Given the description of an element on the screen output the (x, y) to click on. 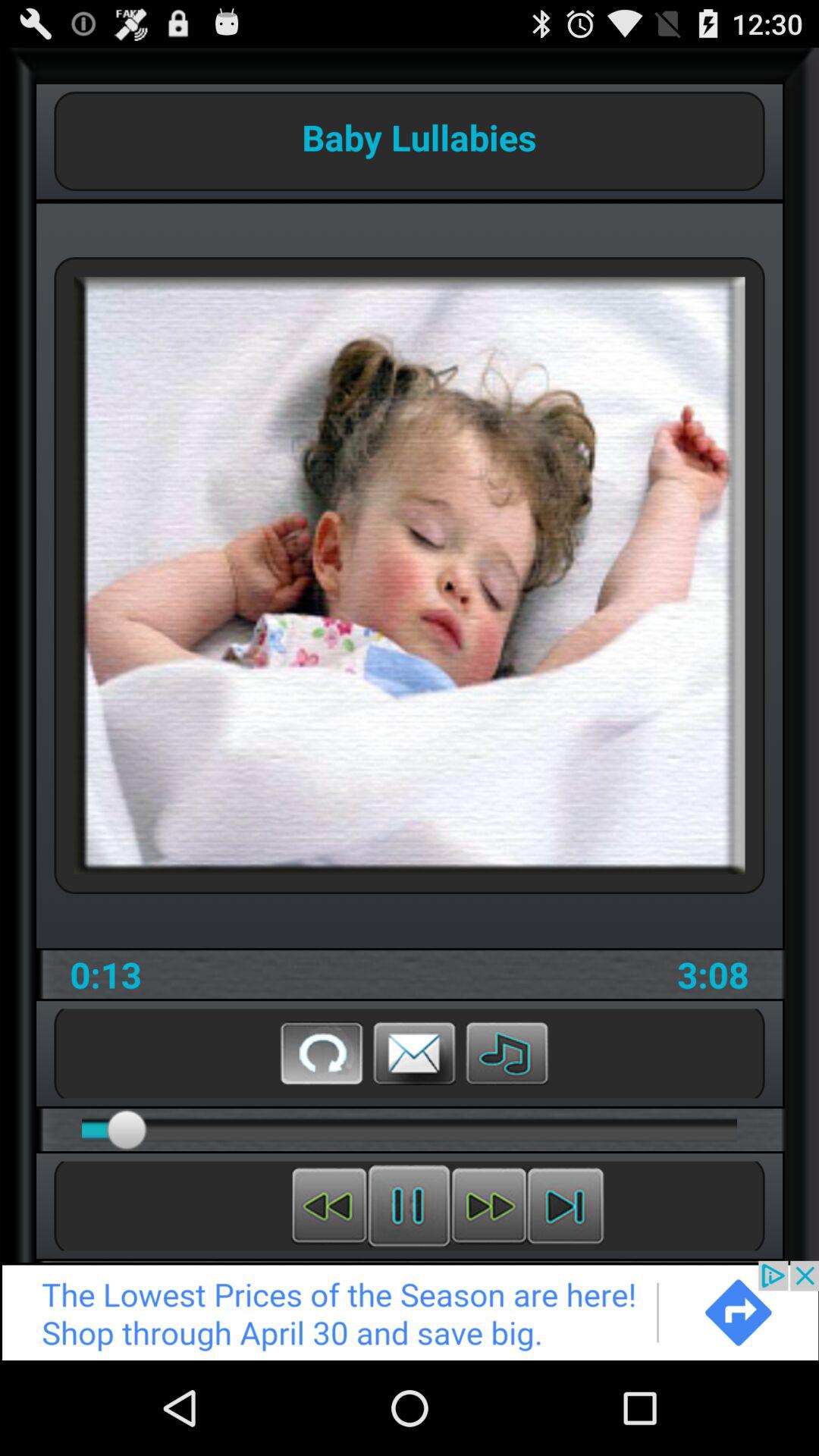
fast forward (488, 1205)
